Given the description of an element on the screen output the (x, y) to click on. 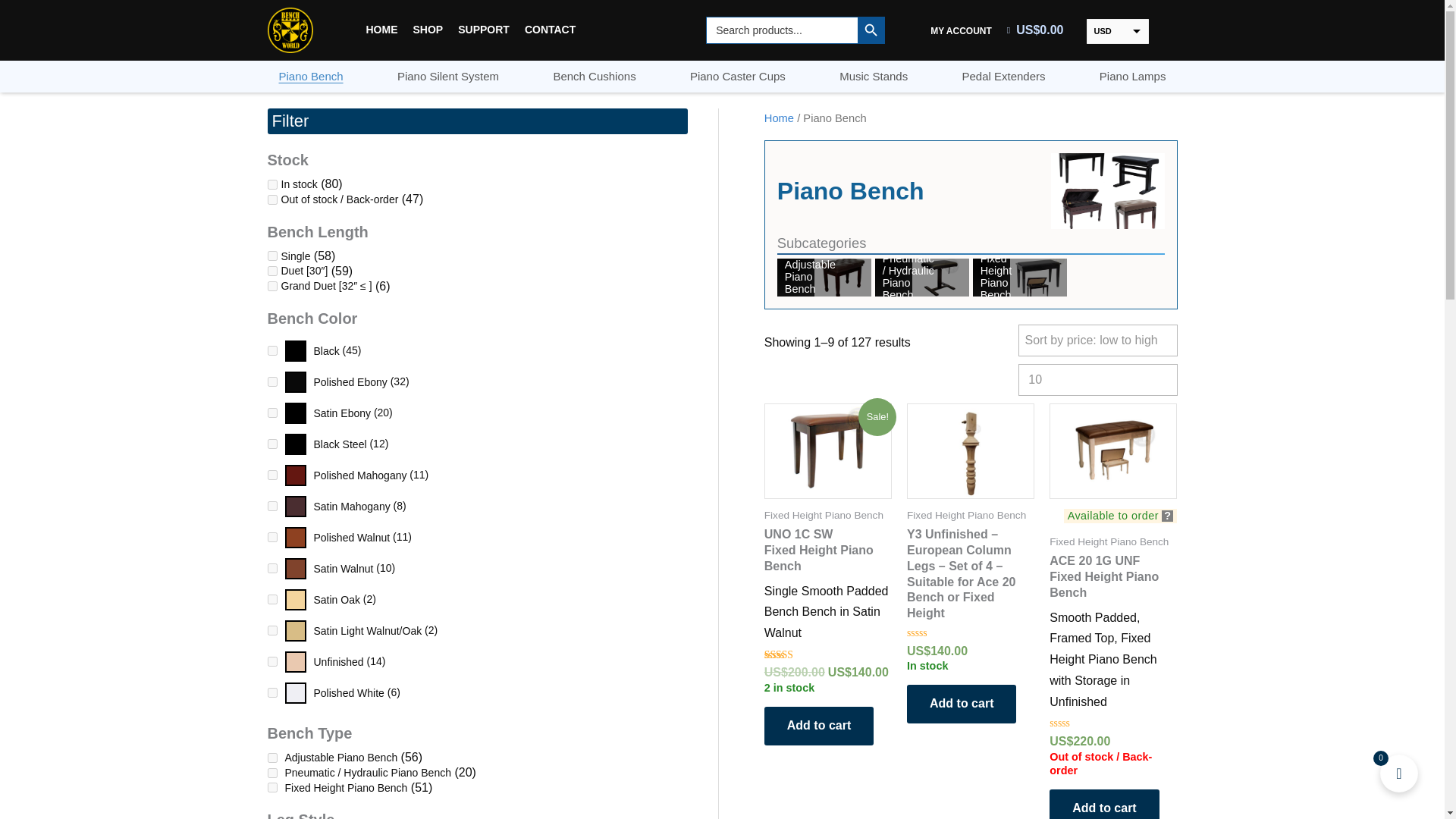
74 (271, 630)
70 (271, 474)
HOME (381, 29)
69 (271, 381)
Music Stands (873, 76)
MY ACCOUNT (960, 30)
SEARCH BUTTON (871, 30)
SHOP (426, 29)
SUPPORT (482, 29)
CONTACT (549, 29)
77 (271, 661)
156 (271, 757)
151 (271, 271)
68 (271, 443)
1 (271, 184)
